Given the description of an element on the screen output the (x, y) to click on. 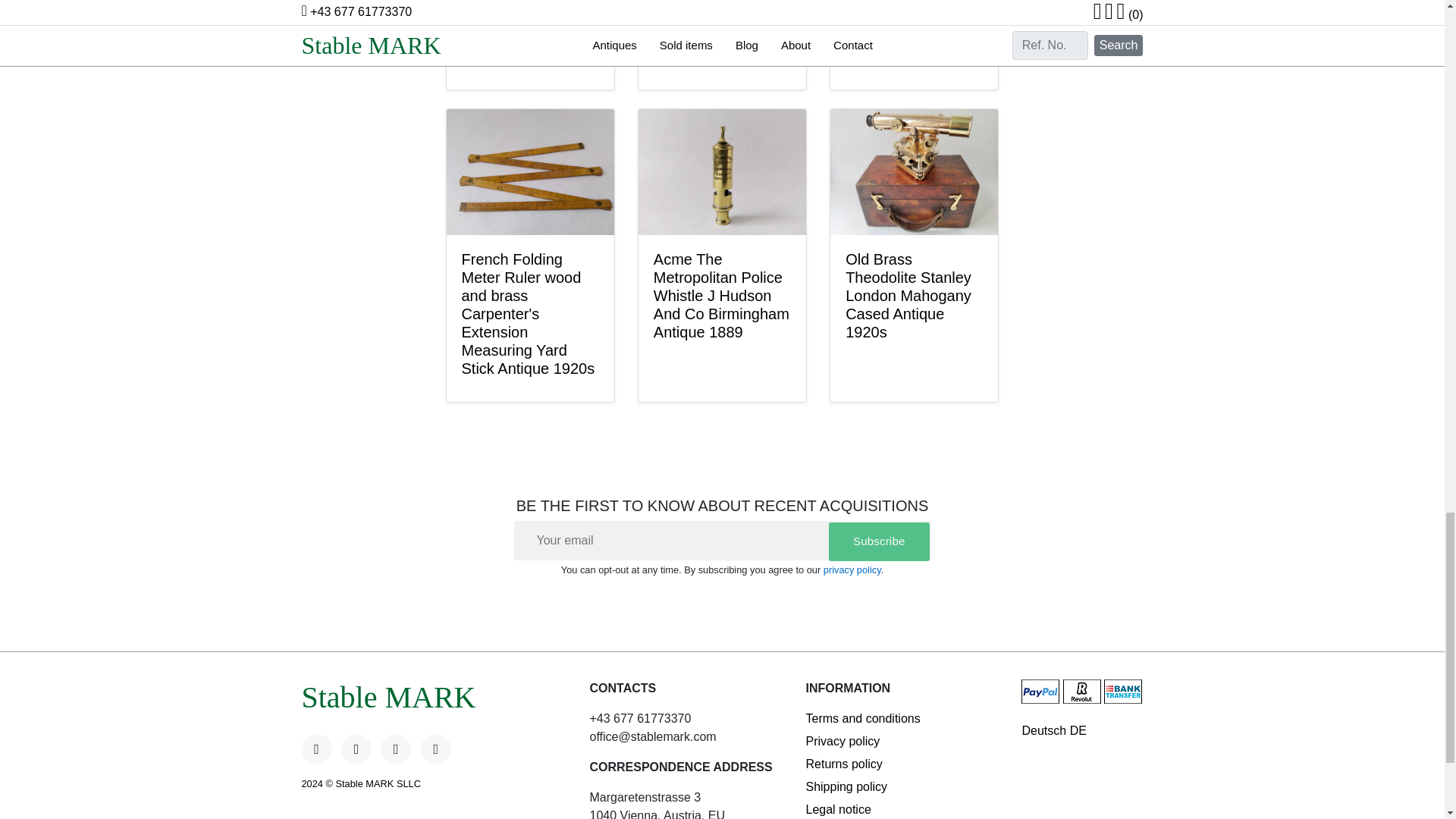
To privacy policy page (852, 569)
Subscribe (879, 541)
Zur Deutsche Version (1082, 730)
privacy policy (852, 569)
